Given the description of an element on the screen output the (x, y) to click on. 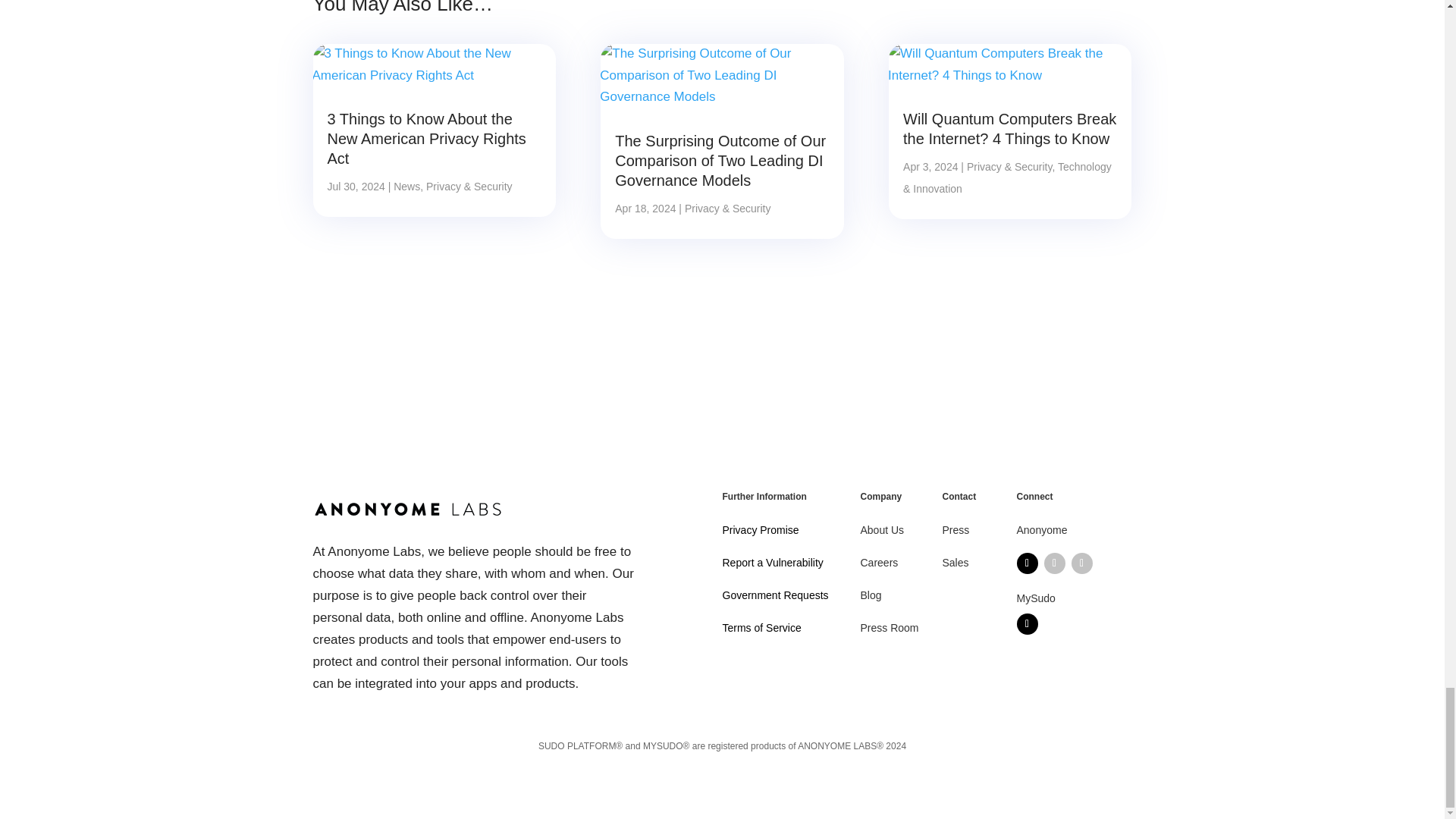
Government Requests (775, 594)
News (406, 186)
Report a Vulnerability (772, 562)
Terms of Service (761, 627)
Press (955, 530)
Careers (879, 562)
Privacy Promise (759, 530)
Will Quantum Computers Break the Internet? 4 Things to Know (1009, 128)
3 Things to Know About the New American Privacy Rights Act  (426, 138)
